Given the description of an element on the screen output the (x, y) to click on. 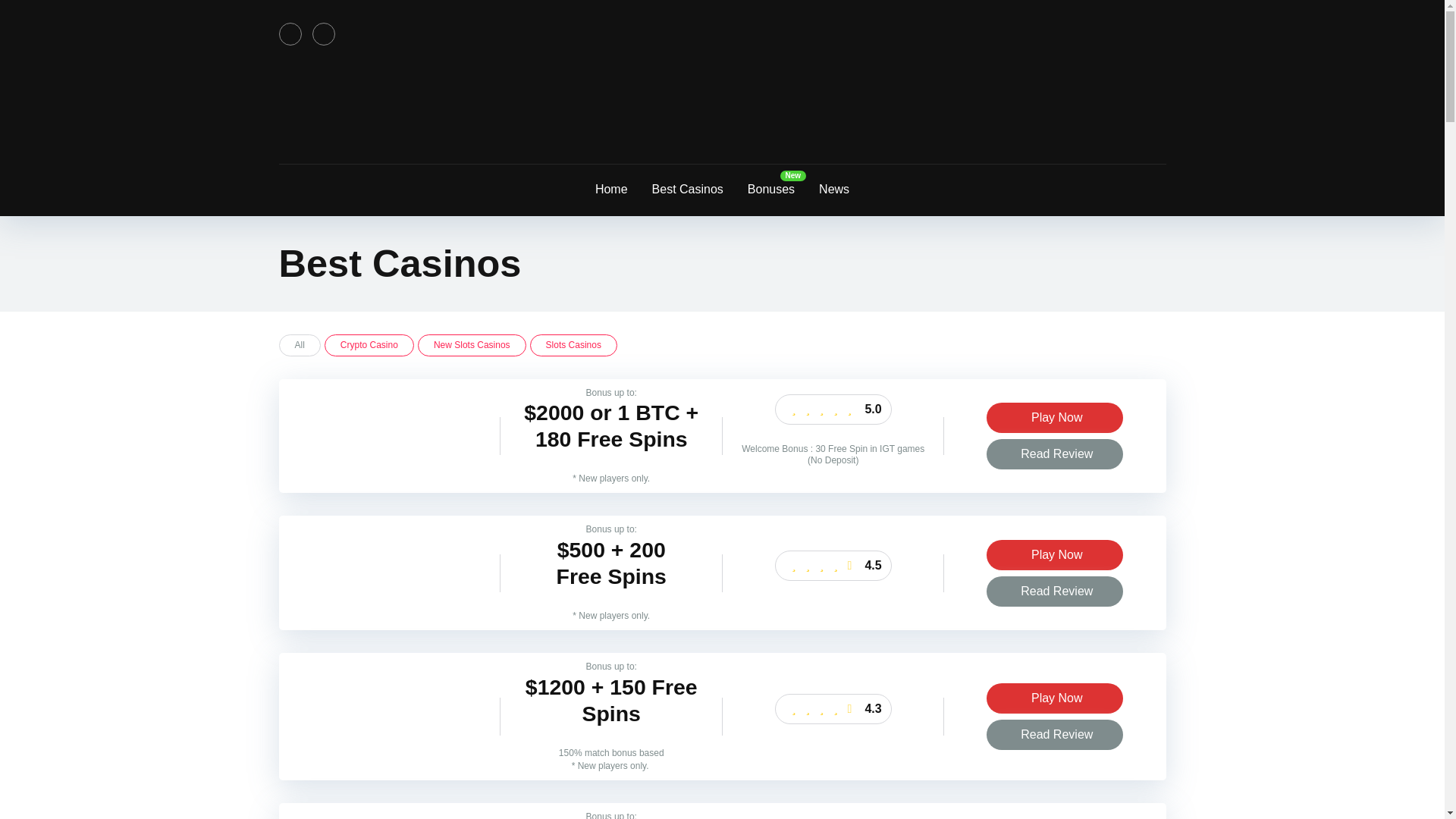
Bonuses (770, 190)
BitStarz Casino (389, 461)
Play Now (1054, 554)
Play Now (1054, 417)
Crypto Casino (368, 345)
Read Review (1054, 453)
HellSpin Casino (389, 751)
Slots Casinos (573, 345)
Read Review (1054, 734)
Read Review (1054, 734)
